Given the description of an element on the screen output the (x, y) to click on. 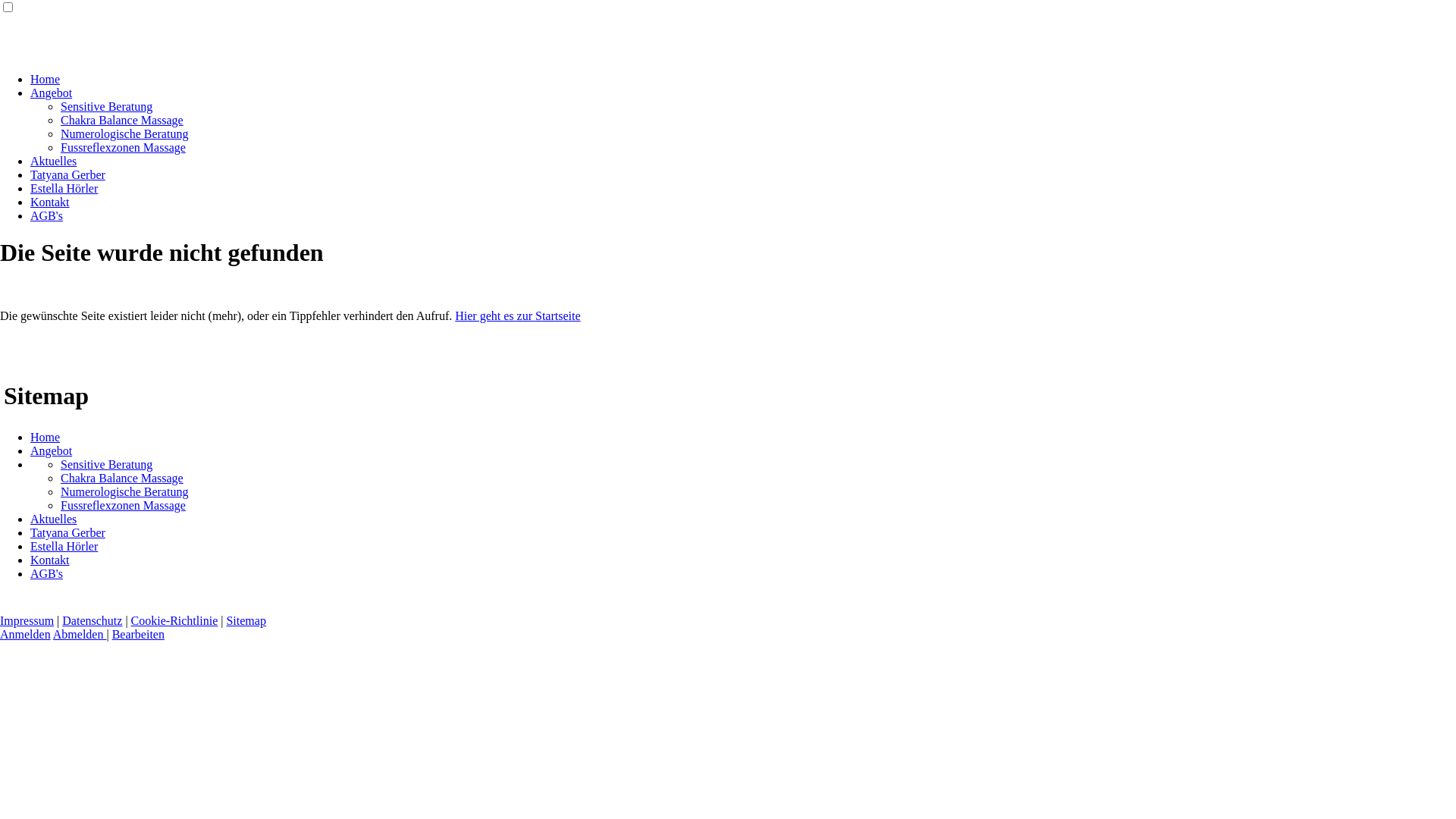
Bearbeiten Element type: text (138, 633)
Fussreflexzonen Massage Element type: text (122, 147)
Hier geht es zur Startseite Element type: text (517, 315)
Aktuelles Element type: text (53, 518)
Home Element type: text (44, 78)
Impressum Element type: text (26, 620)
Datenschutz Element type: text (92, 620)
Sitemap Element type: text (245, 620)
Sensitive Beratung Element type: text (106, 464)
Kontakt Element type: text (49, 201)
Kontakt Element type: text (49, 559)
Anmelden Element type: text (25, 633)
Fussreflexzonen Massage Element type: text (122, 504)
Tatyana Gerber Element type: text (67, 174)
Tatyana Gerber Element type: text (67, 532)
Aktuelles Element type: text (53, 160)
AGB's Element type: text (46, 215)
Sensitive Beratung Element type: text (106, 106)
Angebot Element type: text (51, 92)
Numerologische Beratung Element type: text (124, 133)
Angebot Element type: text (51, 450)
Chakra Balance Massage Element type: text (121, 119)
Chakra Balance Massage Element type: text (121, 477)
AGB's Element type: text (46, 573)
Cookie-Richtlinie Element type: text (174, 620)
Abmelden Element type: text (79, 633)
Numerologische Beratung Element type: text (124, 491)
Home Element type: text (44, 436)
